Given the description of an element on the screen output the (x, y) to click on. 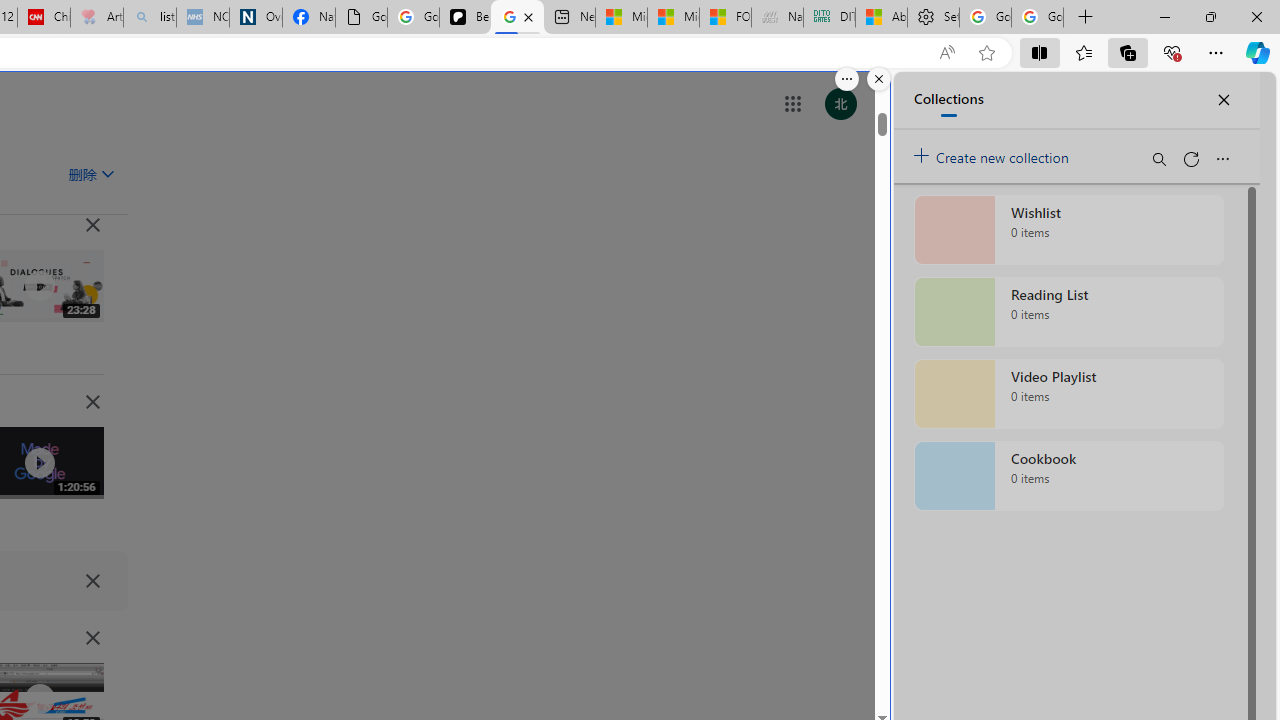
Class: DI7Mnf NMm5M (91, 580)
Class: TjcpUd NMm5M (91, 637)
Class: IVR0f NMm5M (38, 699)
FOX News - MSN (725, 17)
